Given the description of an element on the screen output the (x, y) to click on. 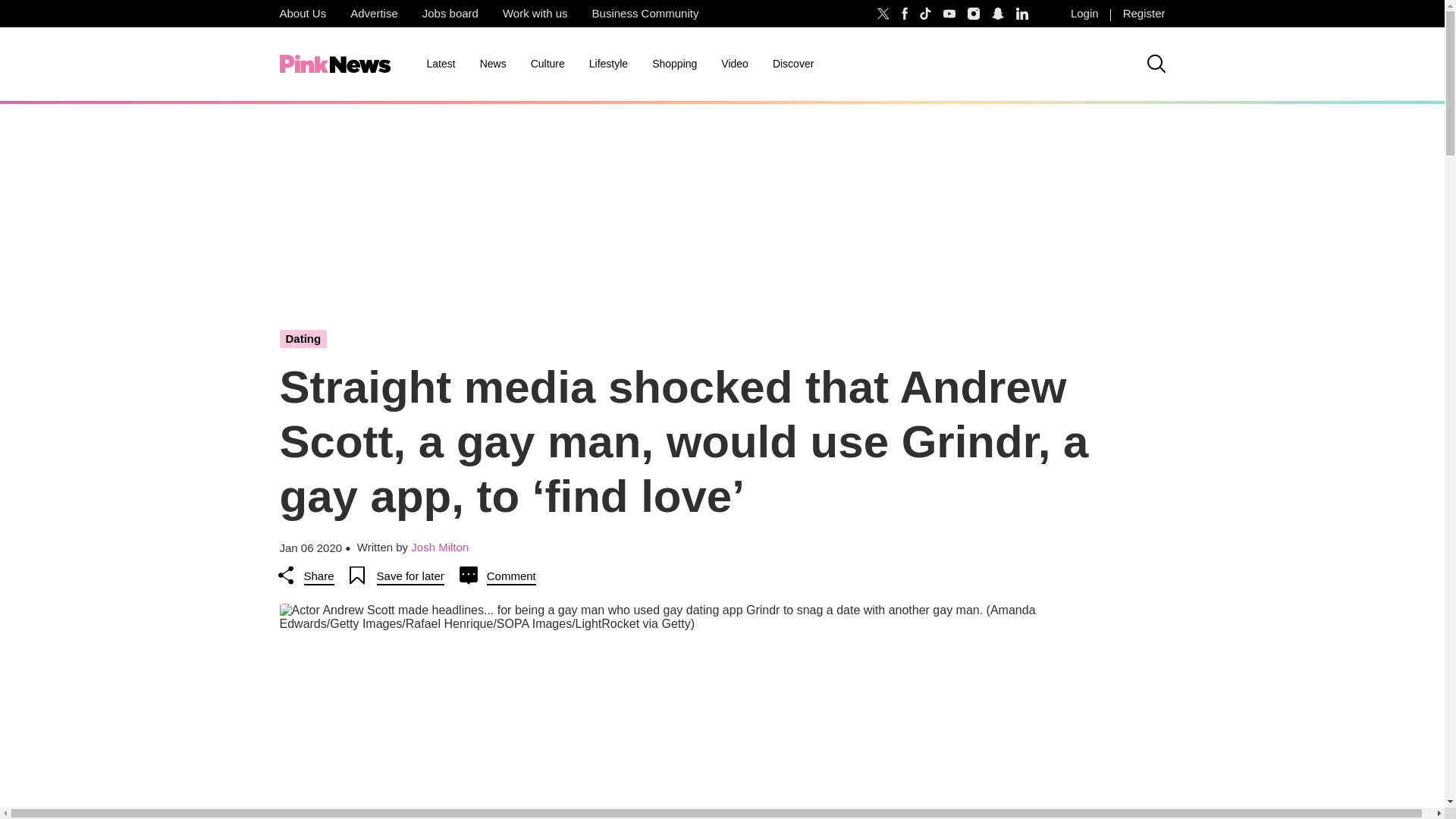
News (493, 63)
Login (1084, 13)
Lifestyle (608, 63)
Advertise (373, 13)
Latest (440, 63)
Work with us (534, 13)
Register (1143, 13)
Culture (547, 63)
About Us (301, 13)
Jobs board (450, 13)
